Given the description of an element on the screen output the (x, y) to click on. 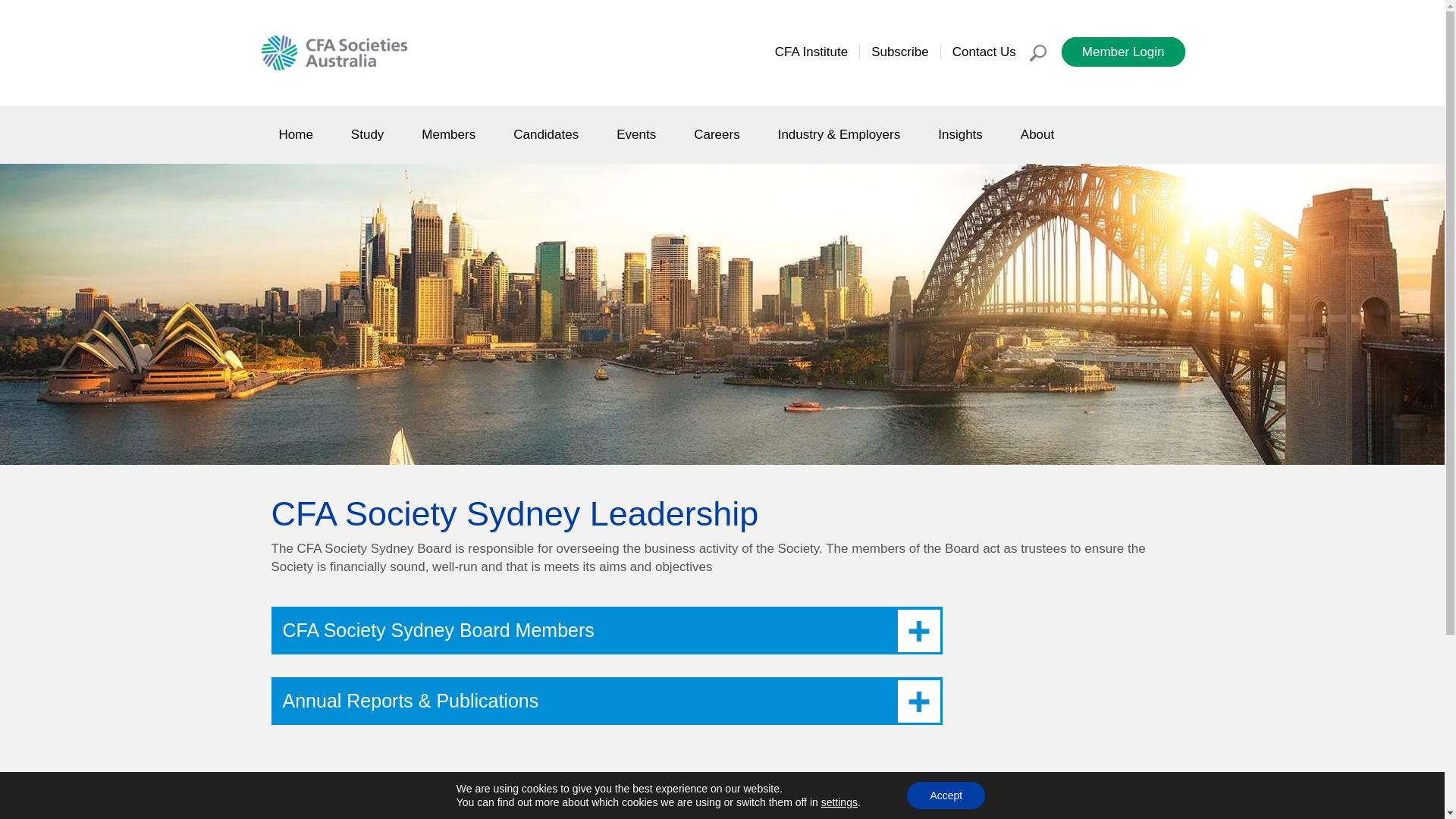
Subscribe Element type: text (899, 51)
Members Element type: text (448, 134)
Study Element type: text (366, 134)
CFA Institute Element type: text (811, 51)
Member Login Element type: text (1123, 51)
Annual Reports & Publications Element type: text (606, 700)
Industry & Employers Element type: text (839, 134)
Contact Us Element type: text (984, 51)
Home Element type: text (295, 134)
settings Element type: text (839, 802)
Accept Element type: text (945, 795)
Candidates Element type: text (545, 134)
Insights Element type: text (960, 134)
CFA Society Sydney Board Members Element type: text (606, 630)
Events Element type: text (636, 134)
Careers Element type: text (716, 134)
About Element type: text (1037, 134)
